Given the description of an element on the screen output the (x, y) to click on. 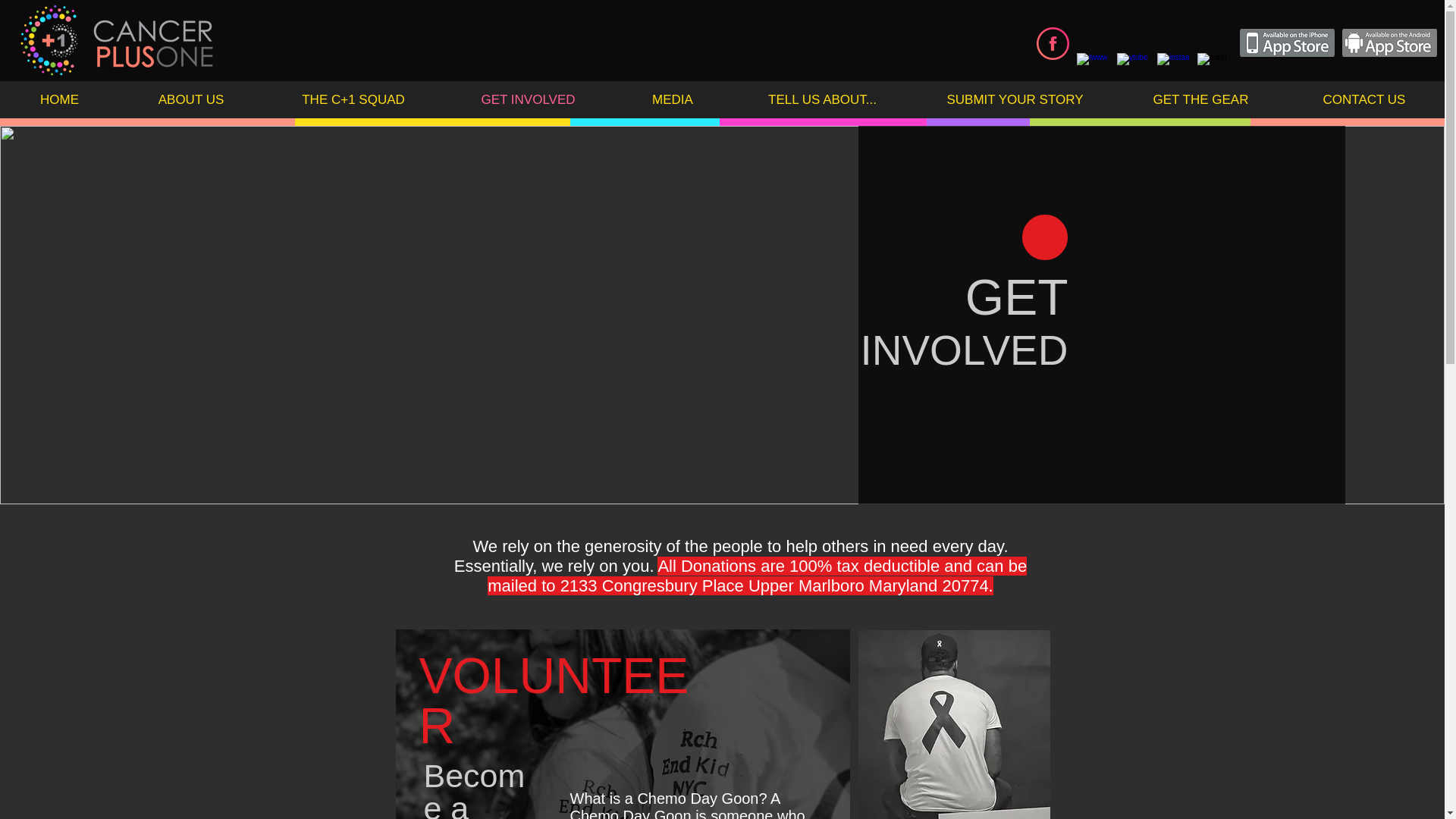
GET THE GEAR (1201, 99)
TELL US ABOUT... (822, 99)
ABOUT US (191, 99)
GET INVOLVED (528, 99)
MEDIA (672, 99)
7.jpg (954, 724)
android-logo-png-hd-apps1.png (1389, 42)
HOME (59, 99)
bernice2.jpg (623, 724)
SUBMIT YOUR STORY (1015, 99)
